Given the description of an element on the screen output the (x, y) to click on. 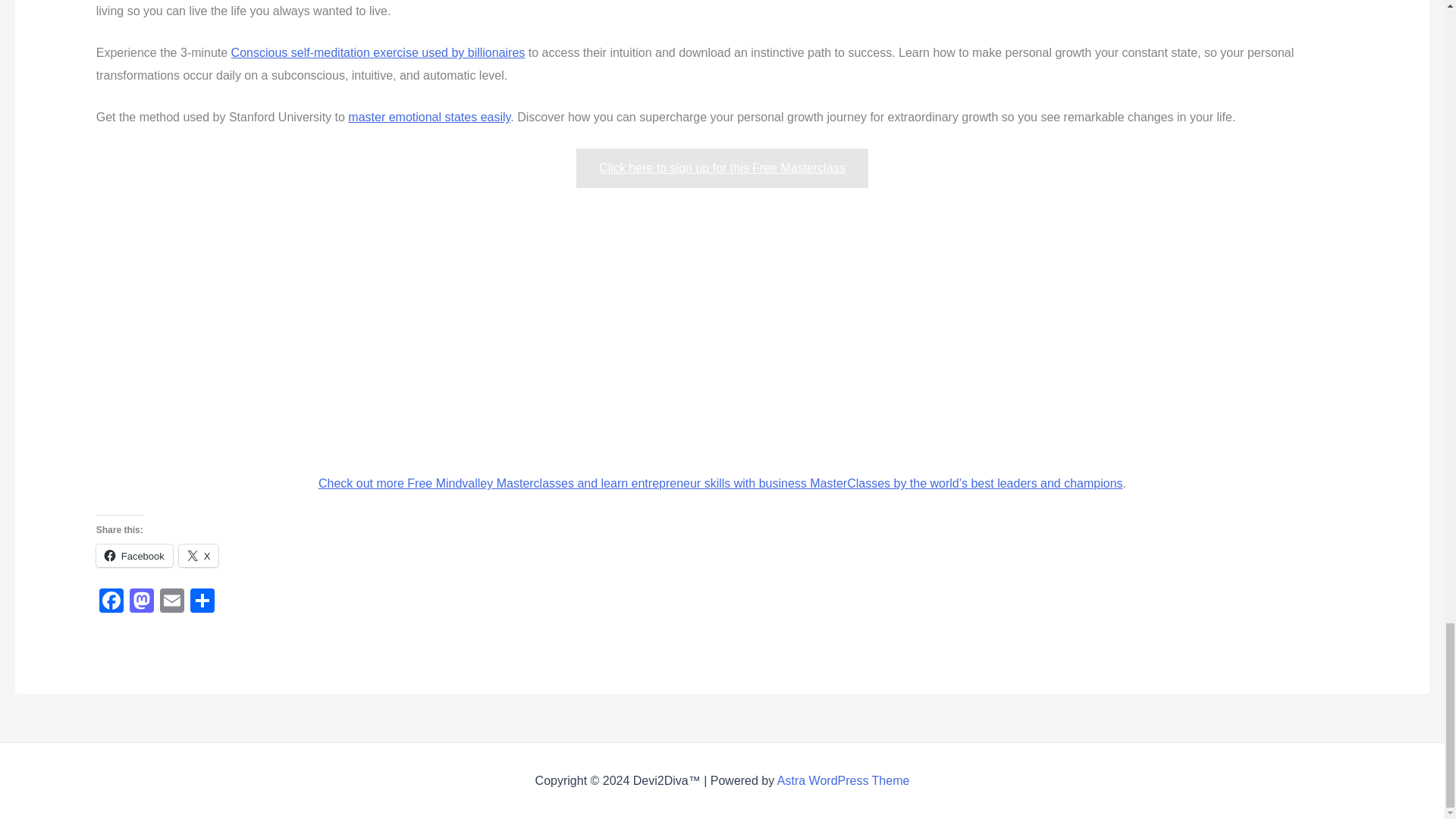
Email (172, 602)
Facebook (111, 602)
Mastodon (141, 602)
Click to share on X (199, 555)
YouTube video player (721, 326)
Click to share on Facebook (134, 555)
